Given the description of an element on the screen output the (x, y) to click on. 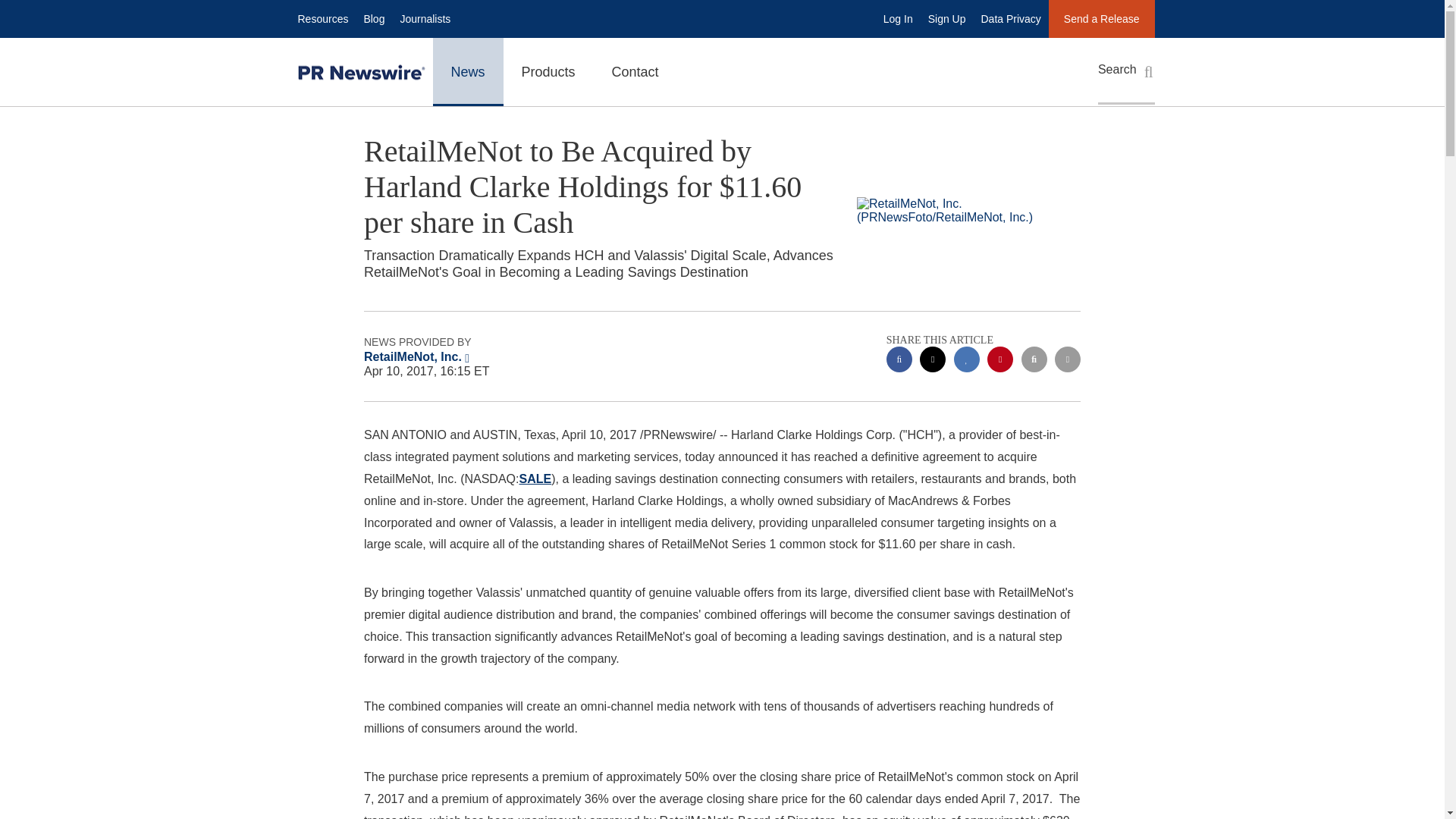
Journalists (424, 18)
Products (548, 71)
Sign Up (947, 18)
Log In (898, 18)
Resources (322, 18)
Blog (373, 18)
Search (1125, 70)
News (467, 71)
Send a Release (1101, 18)
Contact (635, 71)
Data Privacy (1011, 18)
